Given the description of an element on the screen output the (x, y) to click on. 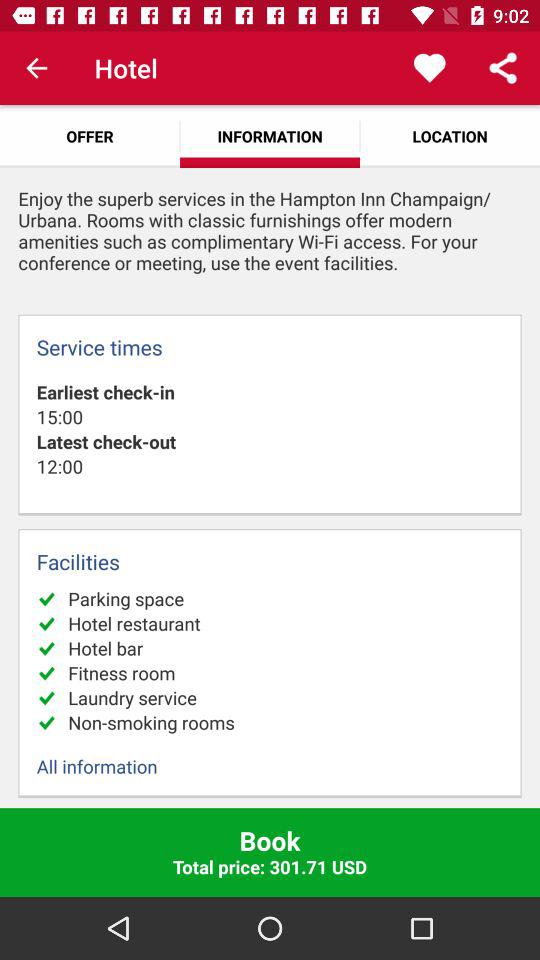
turn off the item to the left of hotel item (36, 68)
